Given the description of an element on the screen output the (x, y) to click on. 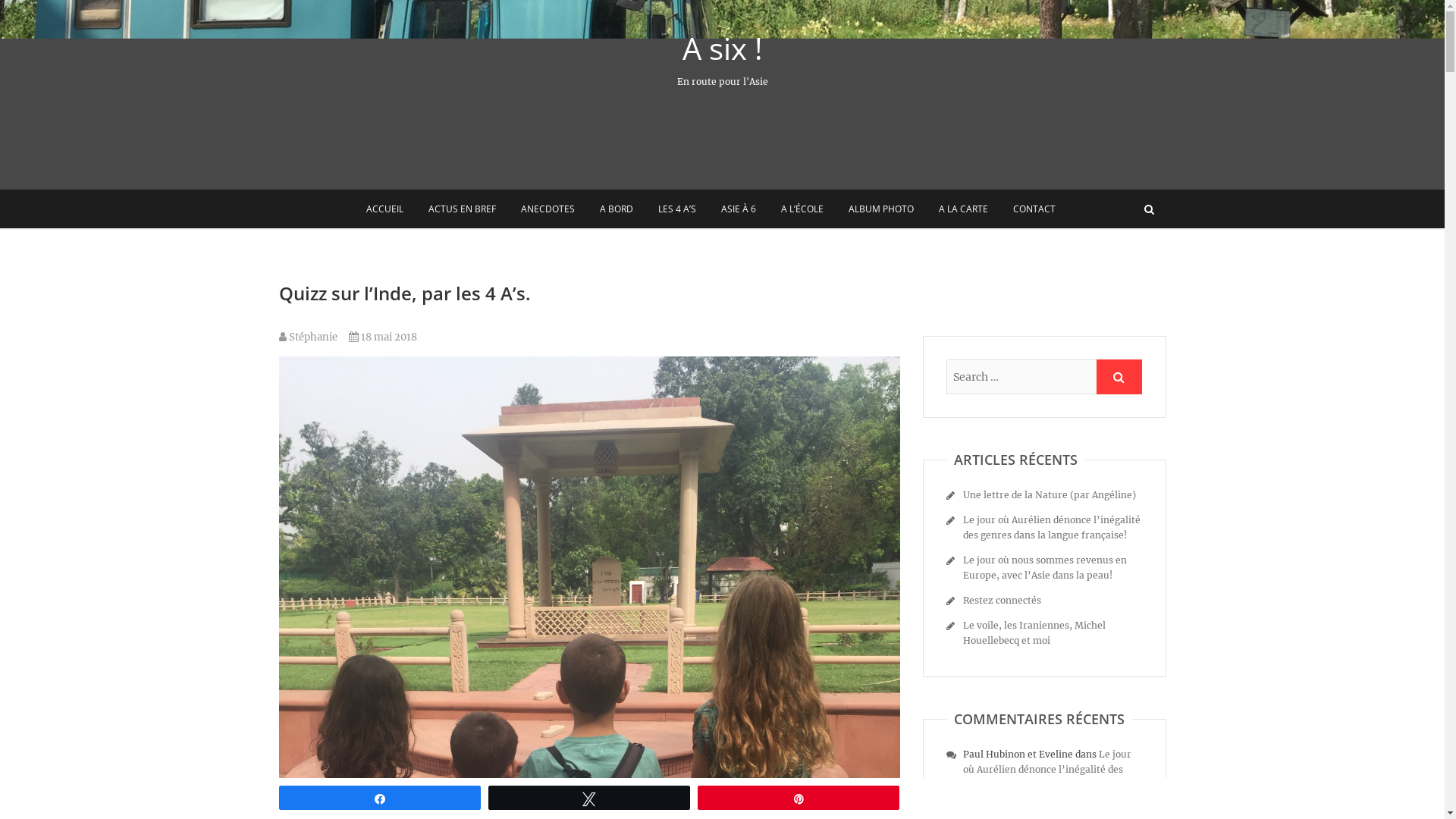
18 mai 2018 Element type: text (382, 336)
A BORD Element type: text (616, 208)
A six ! Element type: text (721, 48)
ACCUEIL Element type: text (384, 208)
ANECDOTES Element type: text (547, 208)
Le voile, les Iraniennes, Michel Houellebecq et moi Element type: text (1034, 632)
ALBUM PHOTO Element type: text (881, 208)
A LA CARTE Element type: text (963, 208)
ACTUS EN BREF Element type: text (462, 208)
CONTACT Element type: text (1033, 208)
